Given the description of an element on the screen output the (x, y) to click on. 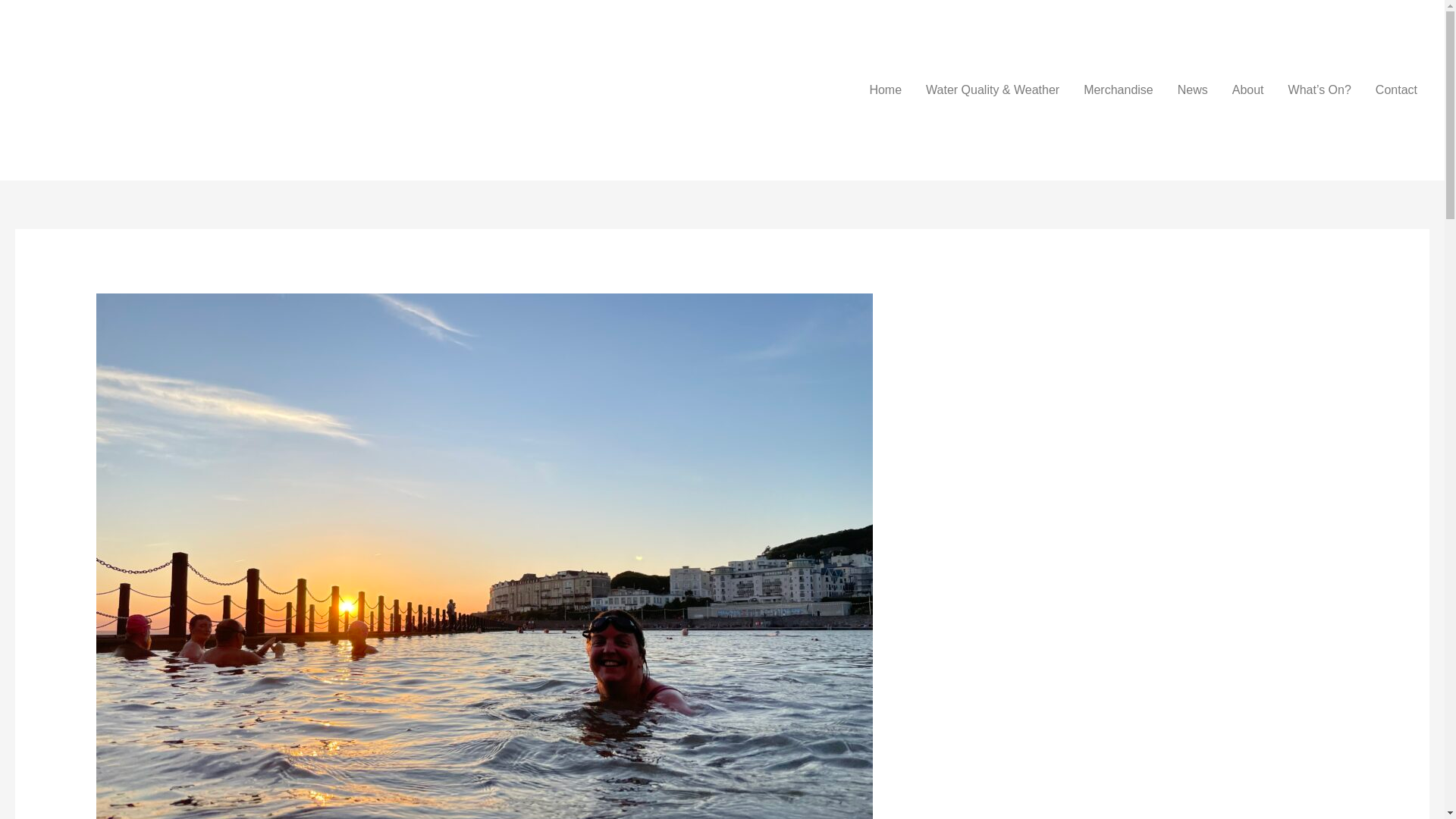
Home (885, 90)
News (1193, 90)
About (1248, 90)
Contact (1395, 90)
Merchandise (1118, 90)
